Given the description of an element on the screen output the (x, y) to click on. 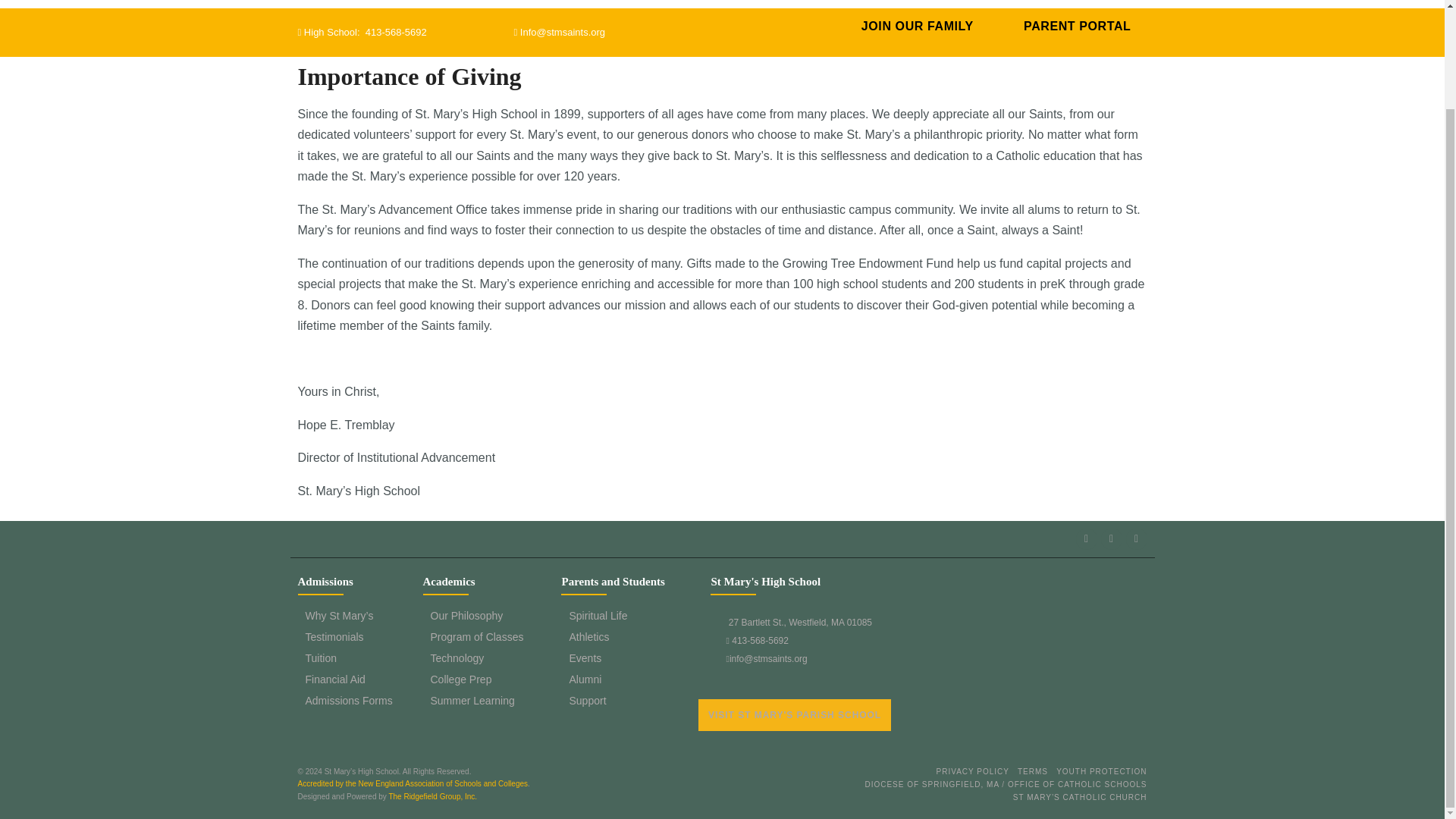
27 Bartlett Street, Westfield MA 01085 (1028, 663)
